Given the description of an element on the screen output the (x, y) to click on. 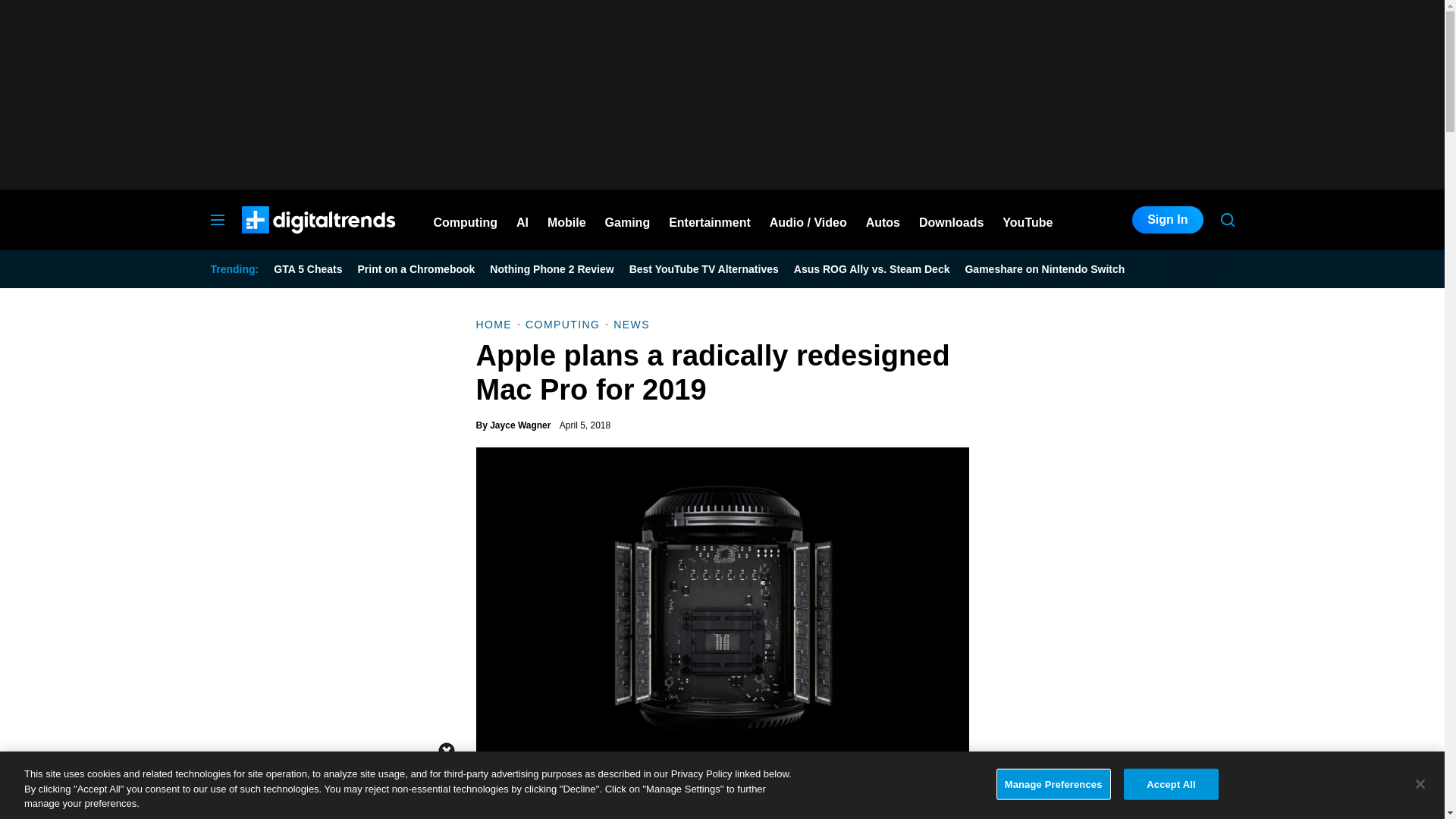
3rd party ad content (721, 785)
Entertainment (709, 219)
3rd party ad content (721, 94)
Sign In (1167, 219)
Downloads (951, 219)
Computing (465, 219)
